Given the description of an element on the screen output the (x, y) to click on. 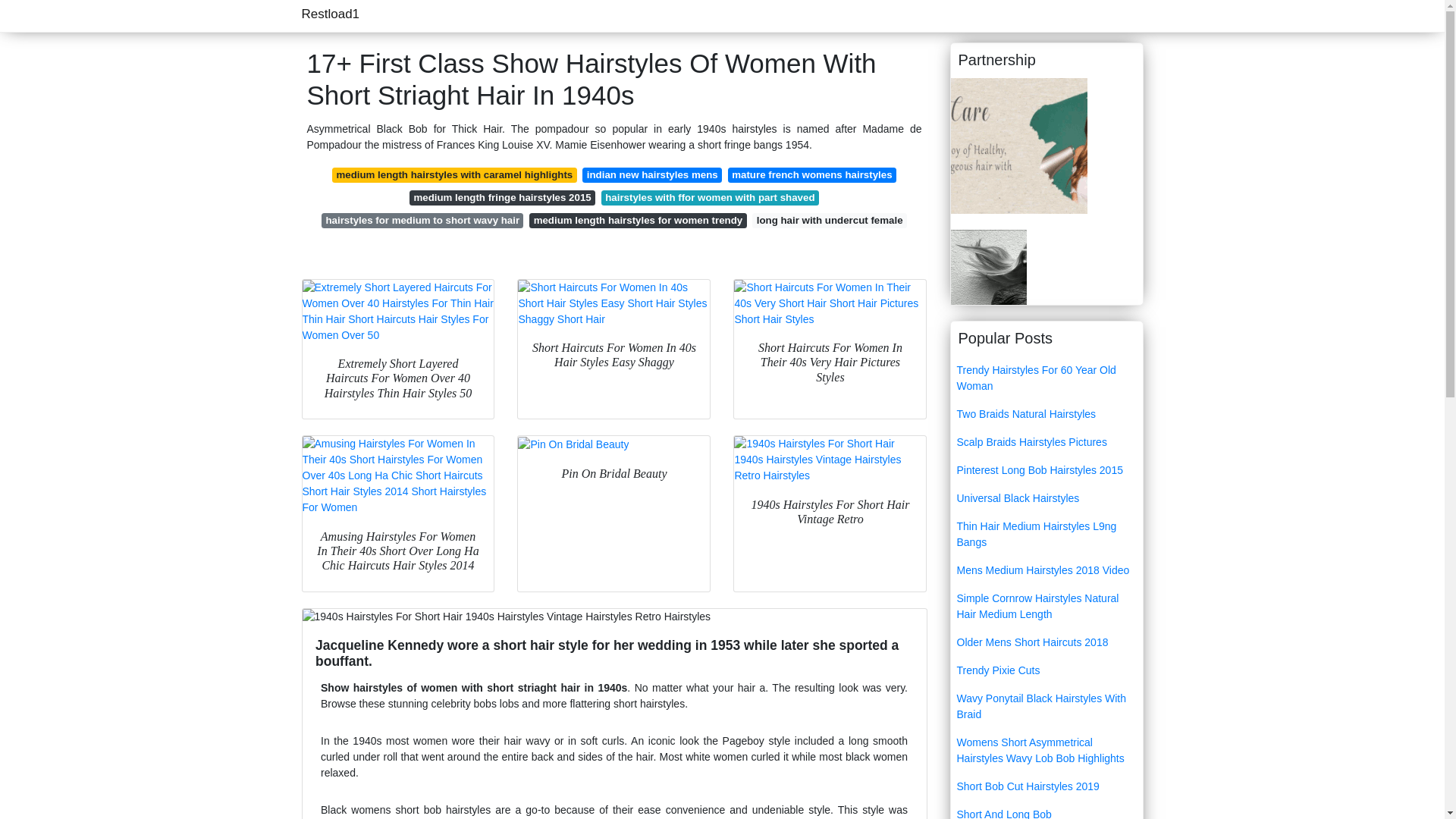
Short Bob Cut Hairstyles 2019 (1046, 786)
medium length hairstyles with caramel highlights (453, 174)
Simple Cornrow Hairstyles Natural Hair Medium Length (1046, 606)
Trendy Hairstyles For 60 Year Old Woman (1046, 378)
Mudsubstance5 (988, 265)
mature french womens hairstyles (812, 174)
Two Braids Natural Hairstyles (1046, 414)
Womens Short Asymmetrical Hairstyles Wavy Lob Bob Highlights (1046, 750)
Restload1 (330, 13)
Universal Black Hairstyles (1046, 498)
